Given the description of an element on the screen output the (x, y) to click on. 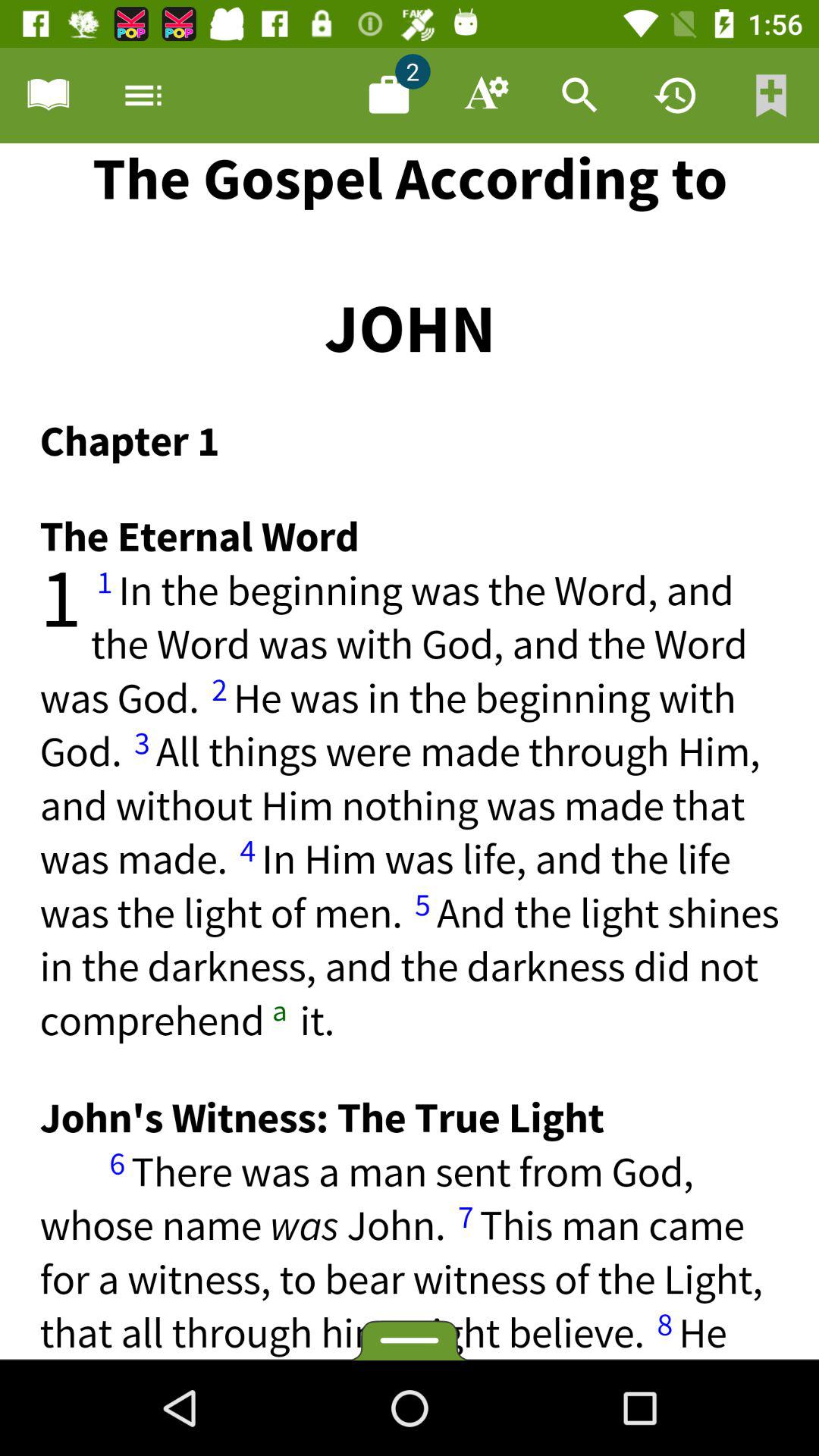
save content (388, 95)
